Given the description of an element on the screen output the (x, y) to click on. 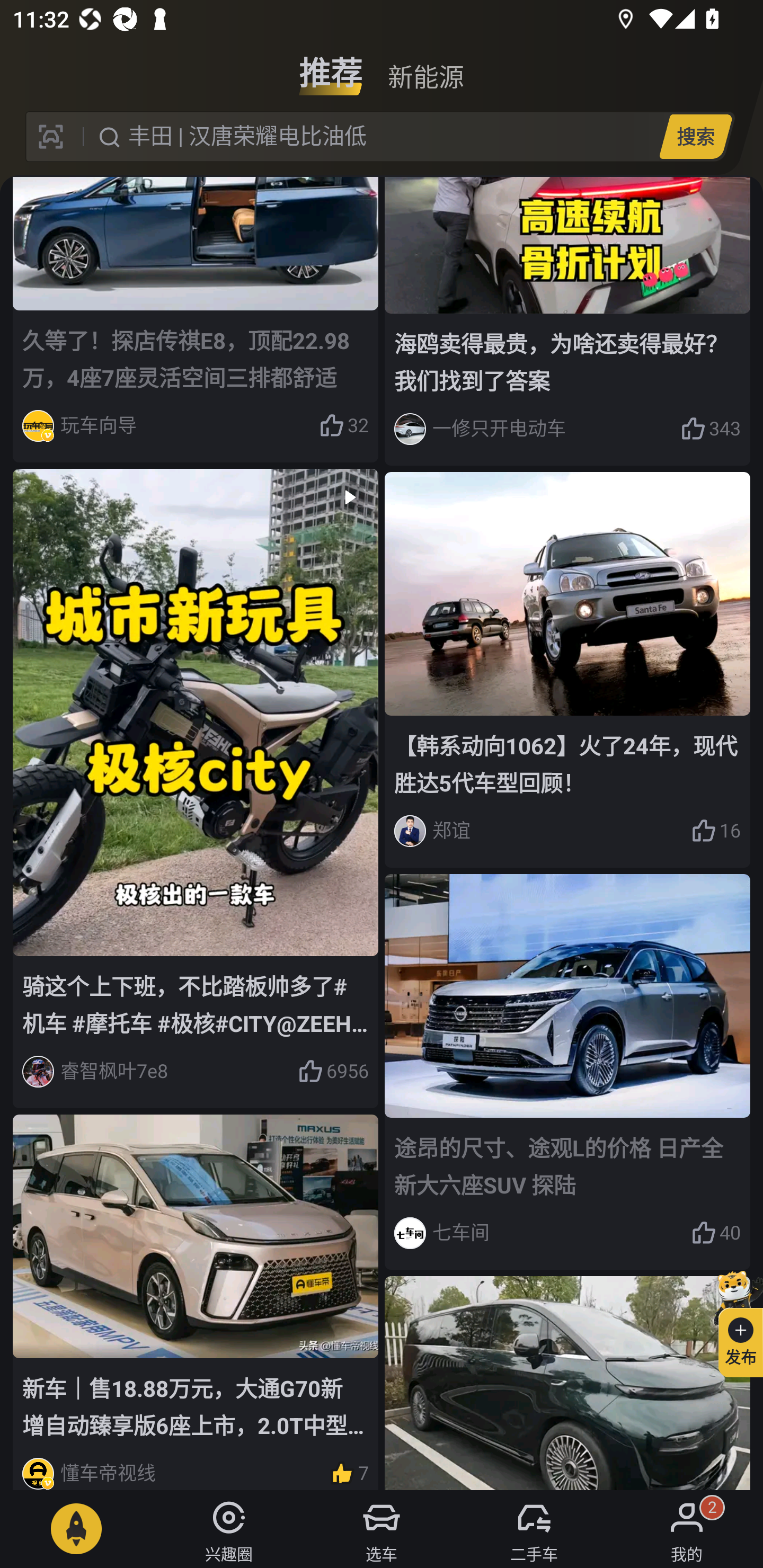
推荐 (330, 65)
新能源 (425, 65)
搜索 (695, 136)
久等了！探店传祺E8，顶配22.98万，4座7座灵活空间三排都舒适 玩车向导 32 (195, 319)
海鸥卖得最贵，为啥还卖得最好？我们找到了答案 一修只开电动车 343 (567, 321)
32 (343, 425)
343 (710, 428)
【韩系动向1062】火了24年，现代胜达5代车型回顾！ 郑谊 16 (567, 669)
16 (715, 830)
途昂的尺寸、途观L的价格 日产全新大六座SUV 探陆 七车间 40 (567, 1071)
6956 (332, 1071)
新车｜售18.88万元，大通G70新增自动臻享版6座上市，2.0T中型MPV 懂车帝视线 7 (195, 1301)
40 (715, 1232)
发布 (732, 1321)
7 (348, 1469)
 兴趣圈 (228, 1528)
 选车 (381, 1528)
 二手车 (533, 1528)
 我的 (686, 1528)
